Given the description of an element on the screen output the (x, y) to click on. 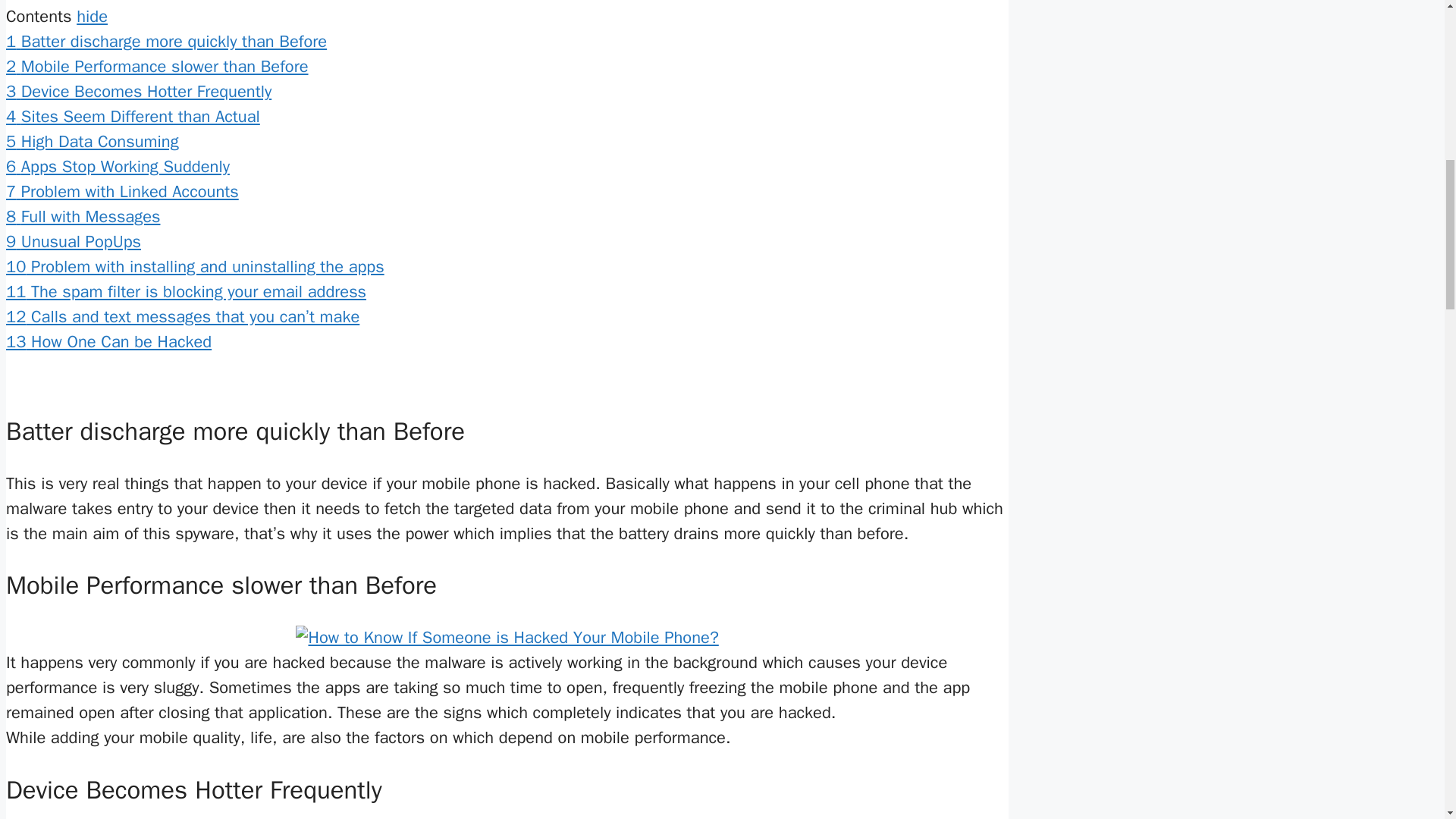
How to Know If Someone is Hacked Your Mobile Phone? (506, 637)
4 Sites Seem Different than Actual (132, 116)
8 Full with Messages (82, 216)
13 How One Can be Hacked (108, 341)
7 Problem with Linked Accounts (121, 191)
2 Mobile Performance slower than Before (156, 66)
9 Unusual PopUps (73, 241)
6 Apps Stop Working Suddenly (117, 166)
10 Problem with installing and uninstalling the apps (194, 266)
5 High Data Consuming (92, 141)
3 Device Becomes Hotter Frequently (137, 91)
11 The spam filter is blocking your email address (185, 291)
hide (92, 16)
1 Batter discharge more quickly than Before (165, 41)
